Given the description of an element on the screen output the (x, y) to click on. 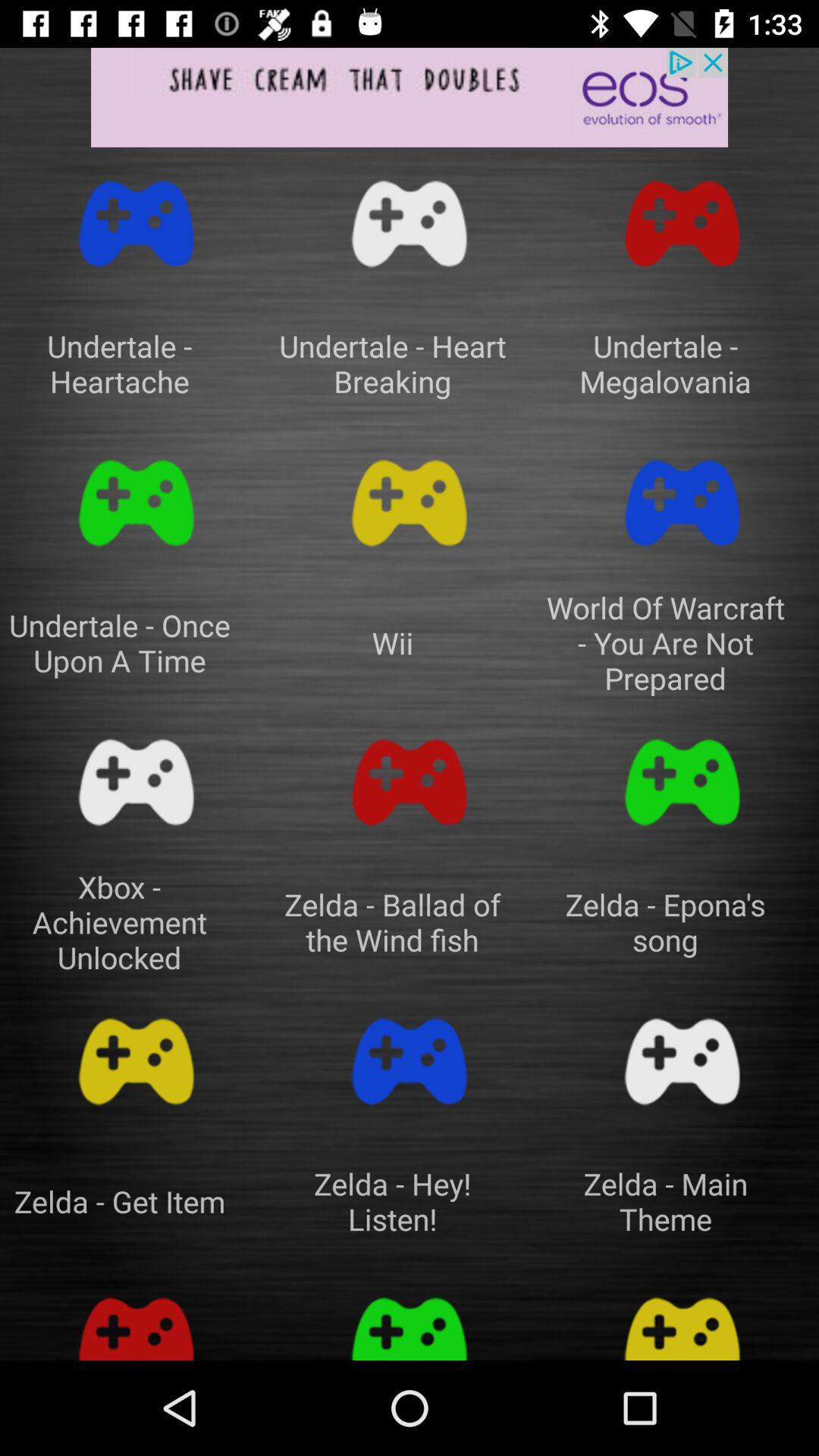
open world of warcraft game (682, 503)
